Given the description of an element on the screen output the (x, y) to click on. 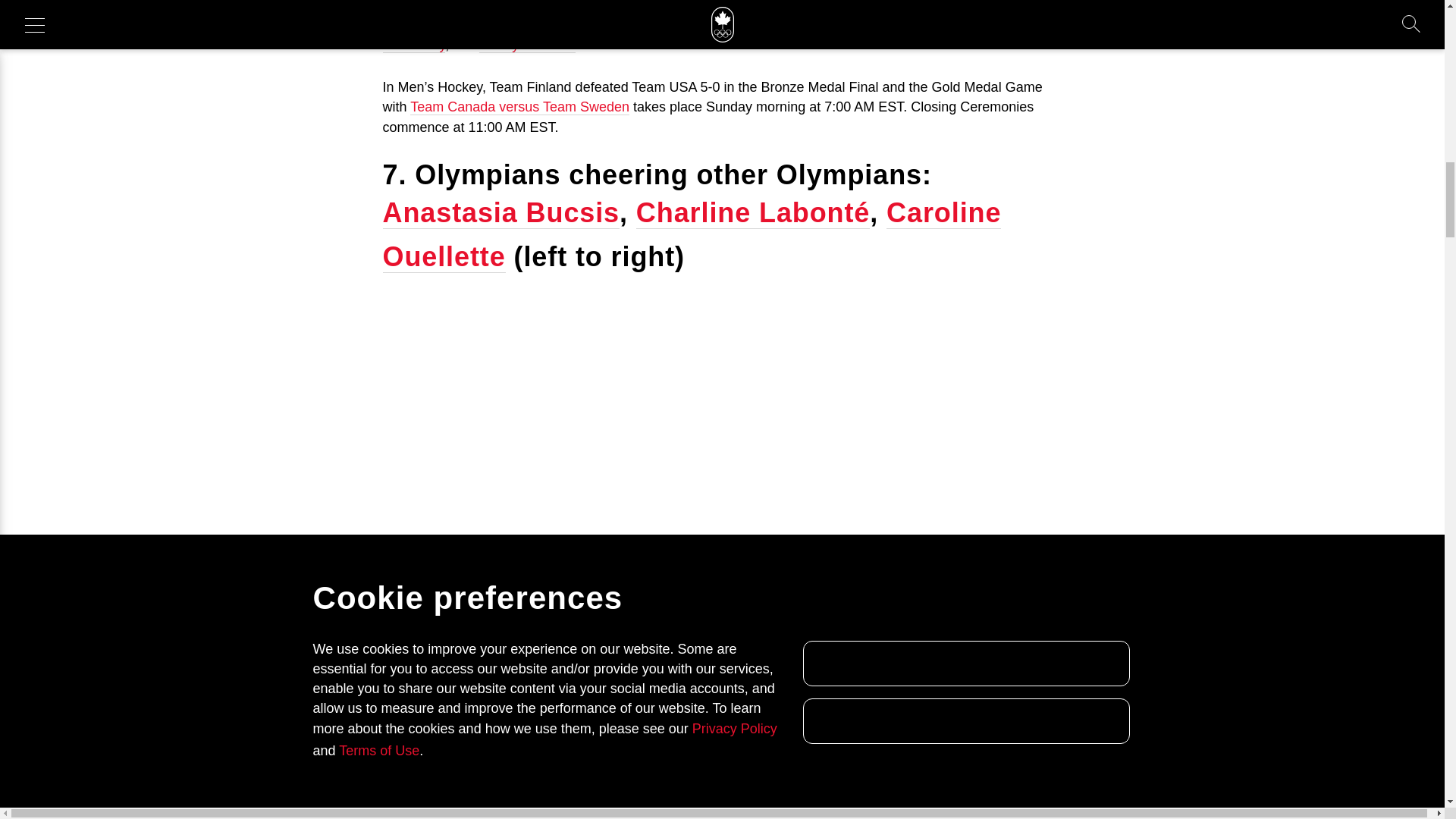
Scott Perras (825, 4)
Brendan Green (916, 4)
Nathan Smith (709, 15)
Jean Philippe Le Guellec (704, 4)
